Given the description of an element on the screen output the (x, y) to click on. 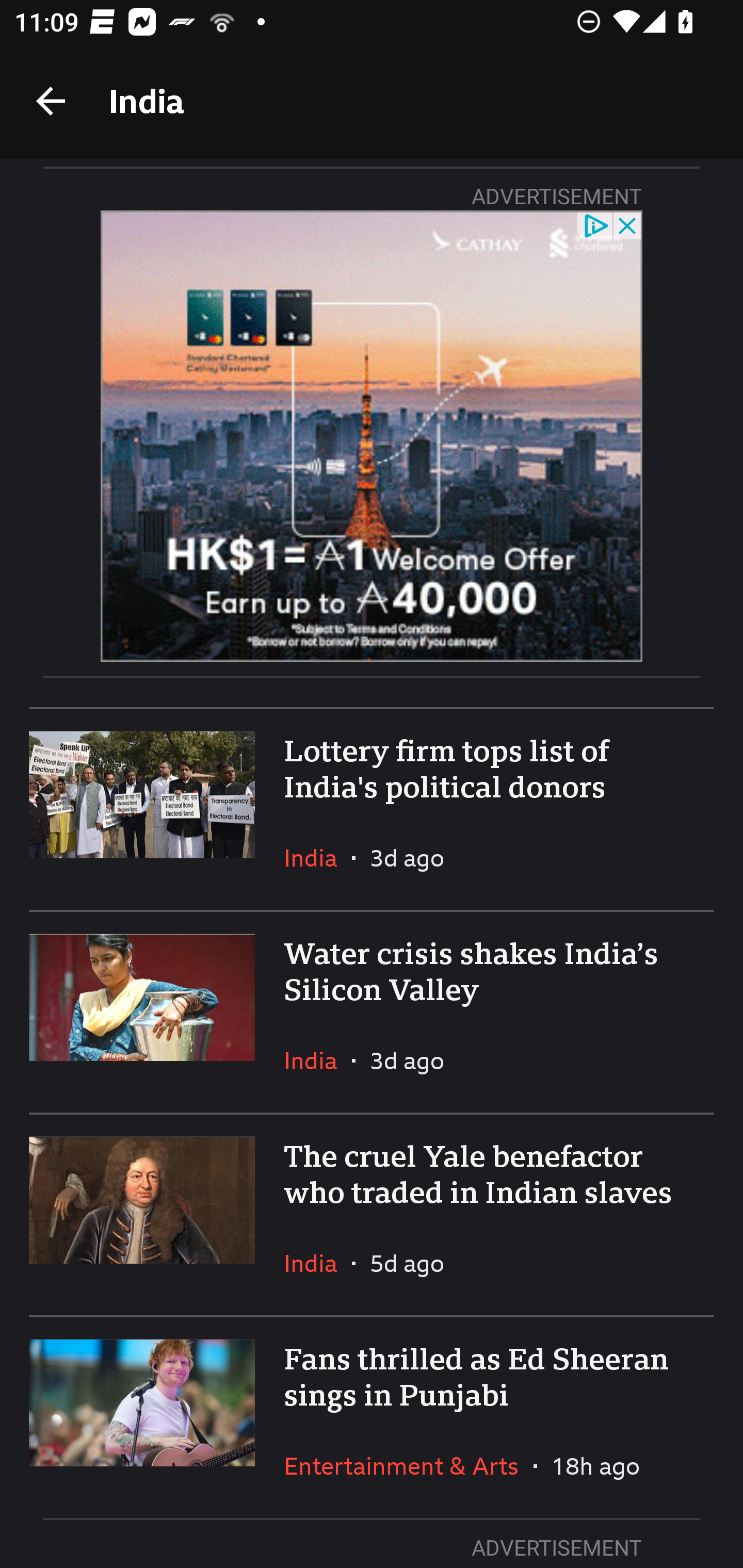
Back (50, 101)
privacy_small (595, 224)
close_button (627, 224)
India In the section India (317, 857)
India In the section India (317, 1060)
India In the section India (317, 1262)
